Given the description of an element on the screen output the (x, y) to click on. 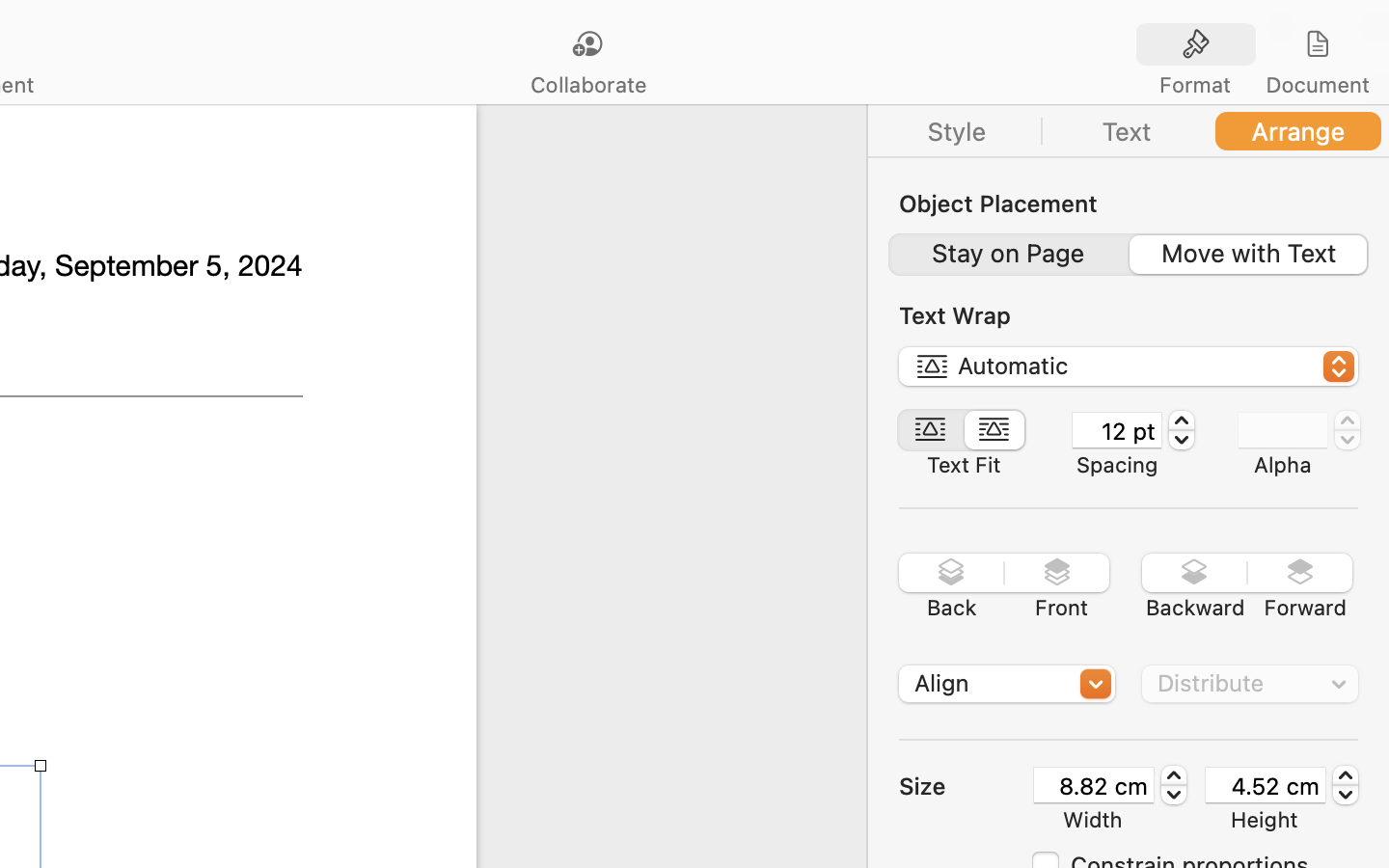
Object Placement Element type: AXStaticText (998, 203)
12 pt Element type: AXTextField (1116, 429)
Document Element type: AXStaticText (1316, 84)
Text Wrap Element type: AXStaticText (954, 314)
